Given the description of an element on the screen output the (x, y) to click on. 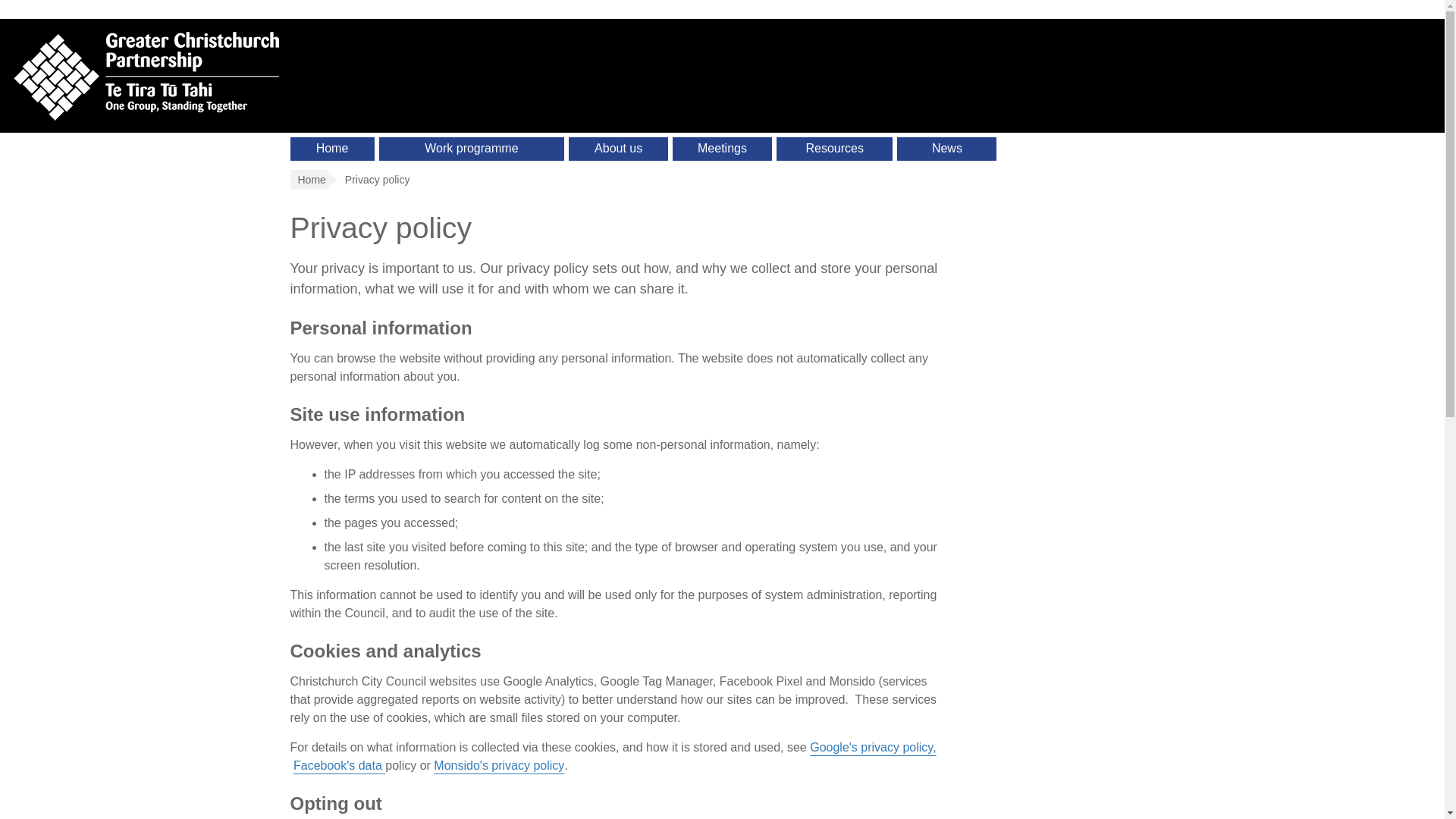
About us (618, 148)
Work programme (471, 148)
Home (331, 148)
Resources (834, 148)
Meetings (721, 148)
Return to homepage (485, 75)
